Given the description of an element on the screen output the (x, y) to click on. 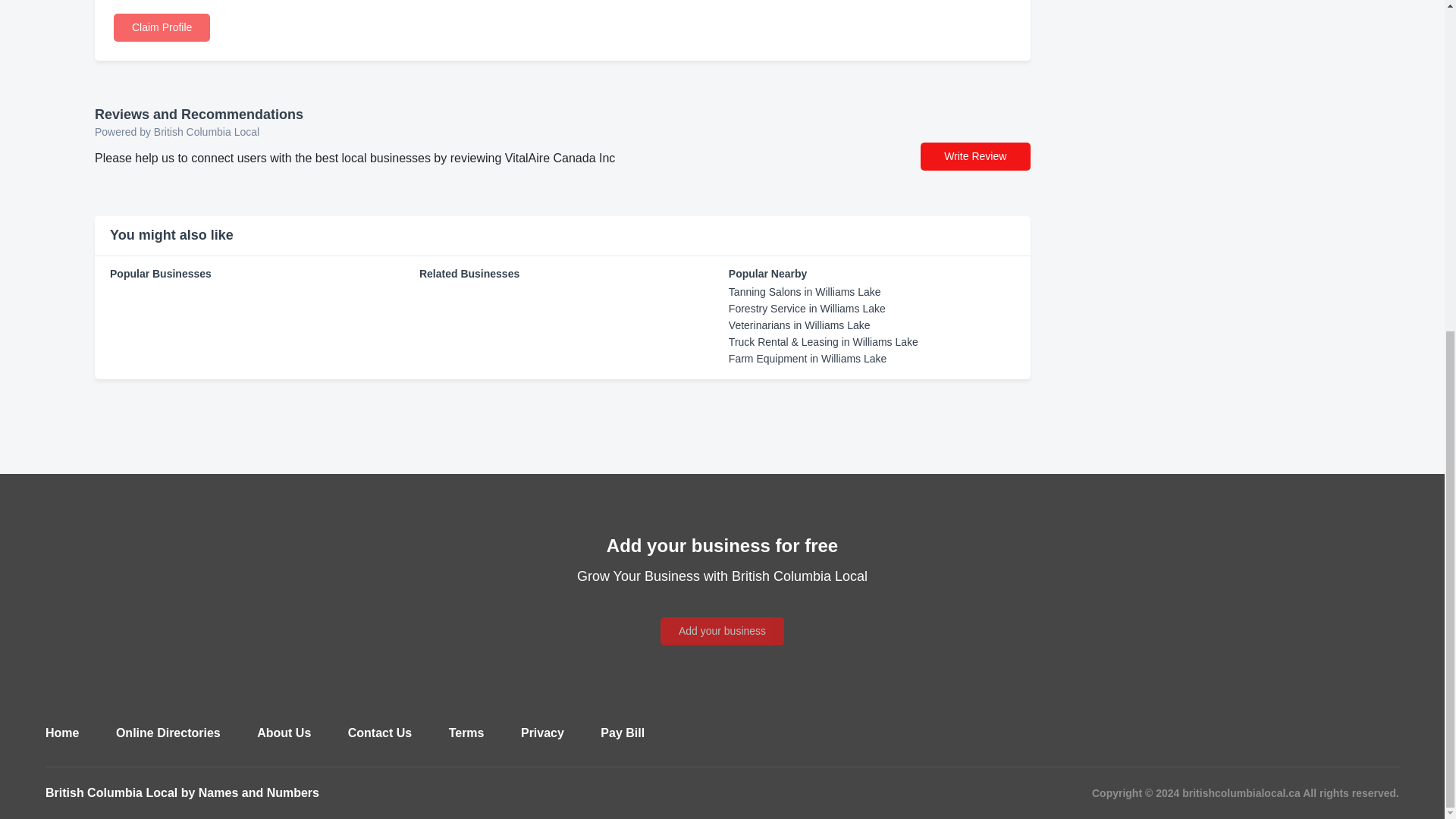
Online Directories (168, 732)
Home (61, 732)
Tanning Salons in Williams Lake (804, 291)
Add your business (722, 613)
Farm Equipment in Williams Lake (807, 358)
Pay Bill (622, 732)
Claim Profile (161, 27)
Contact Us (379, 732)
Add your business (722, 631)
Names and Numbers (258, 792)
